Given the description of an element on the screen output the (x, y) to click on. 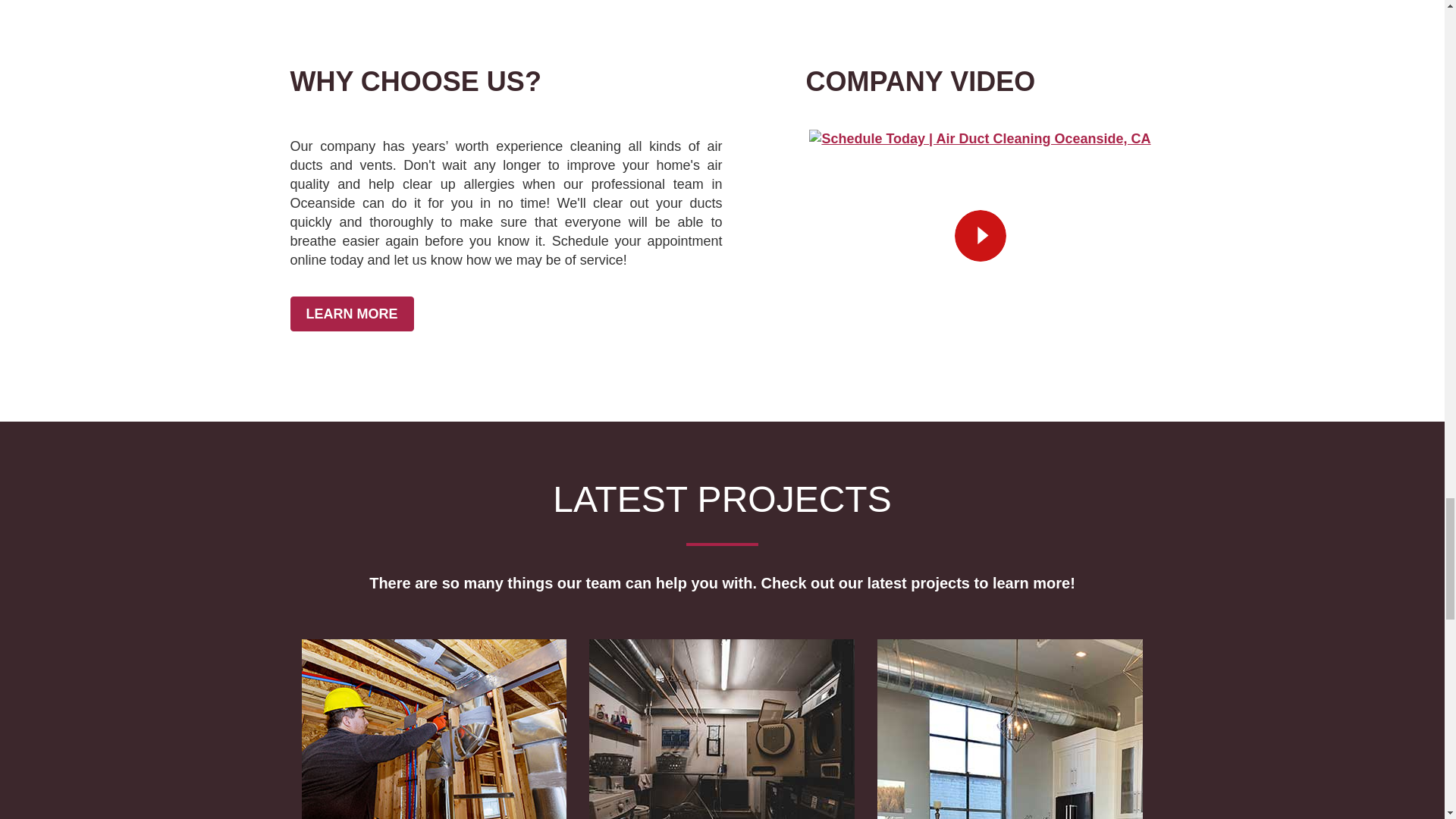
Air Duct Cleaning, East Side Capistrano (721, 729)
Air Duct Replacement - Oceanside (1009, 729)
LEARN MORE (351, 313)
Air Duct Leak Repair, Oceanside (434, 729)
